Given the description of an element on the screen output the (x, y) to click on. 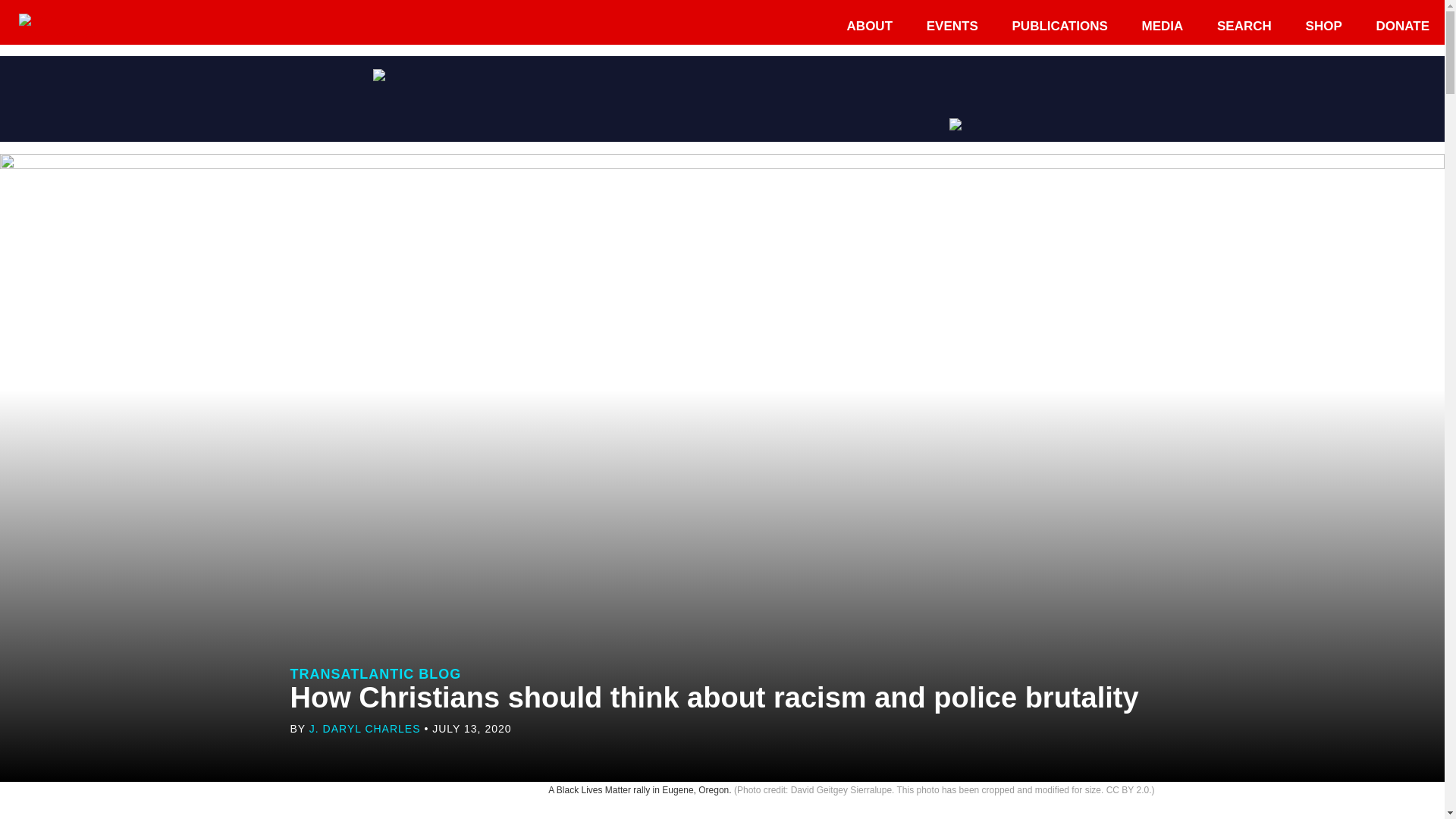
Publications (1059, 26)
About (869, 26)
Events (951, 26)
ABOUT (869, 26)
MEDIA (1162, 26)
EVENTS (951, 26)
PUBLICATIONS (1059, 26)
